Given the description of an element on the screen output the (x, y) to click on. 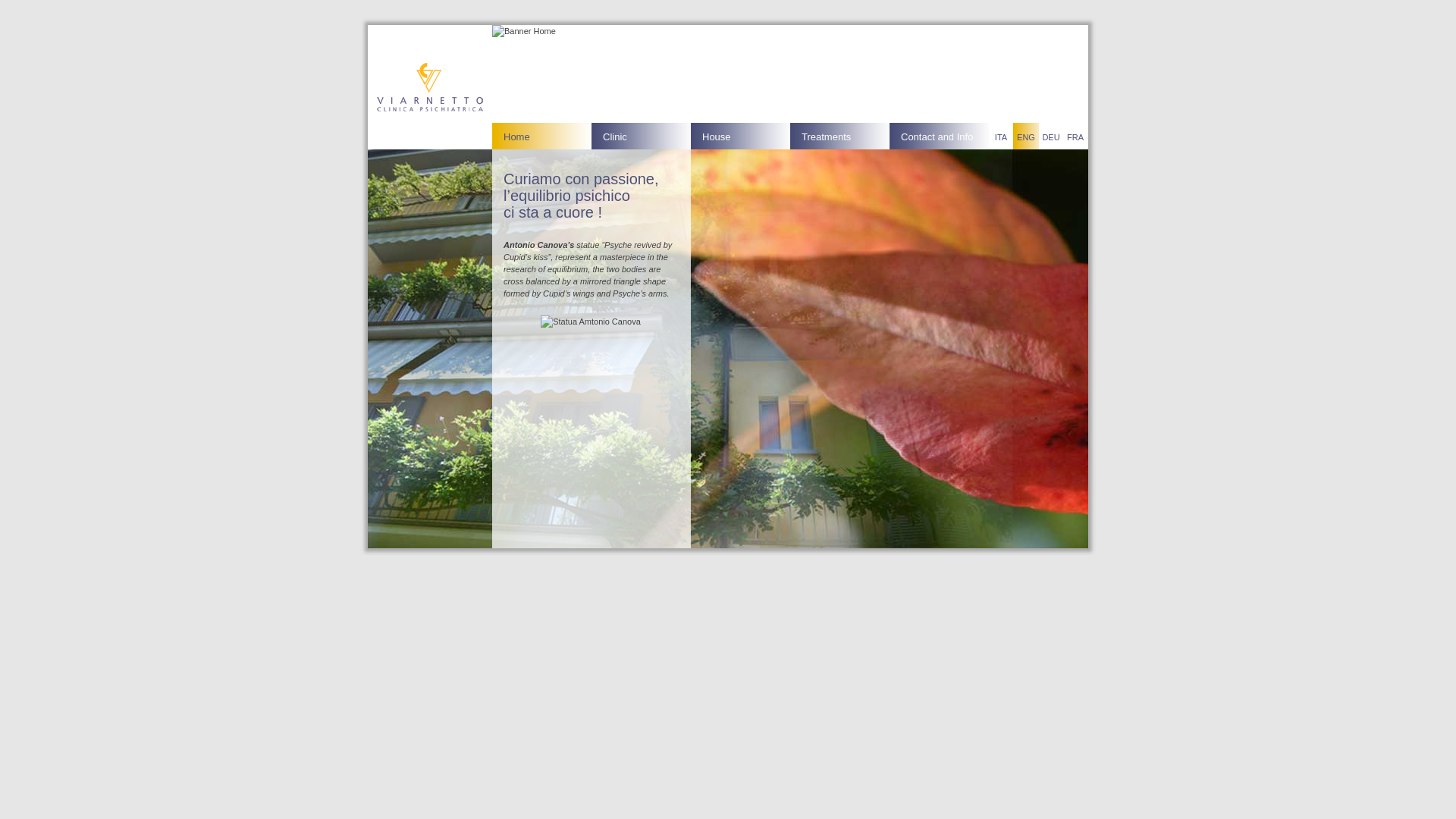
ENG Element type: text (1025, 135)
ITA Element type: text (1000, 135)
Contact and Info Element type: text (938, 135)
Clinic Element type: text (640, 135)
Home Element type: text (541, 135)
House Element type: text (740, 135)
DEU Element type: text (1050, 135)
FRA Element type: text (1075, 135)
Treatments Element type: text (839, 135)
